Given the description of an element on the screen output the (x, y) to click on. 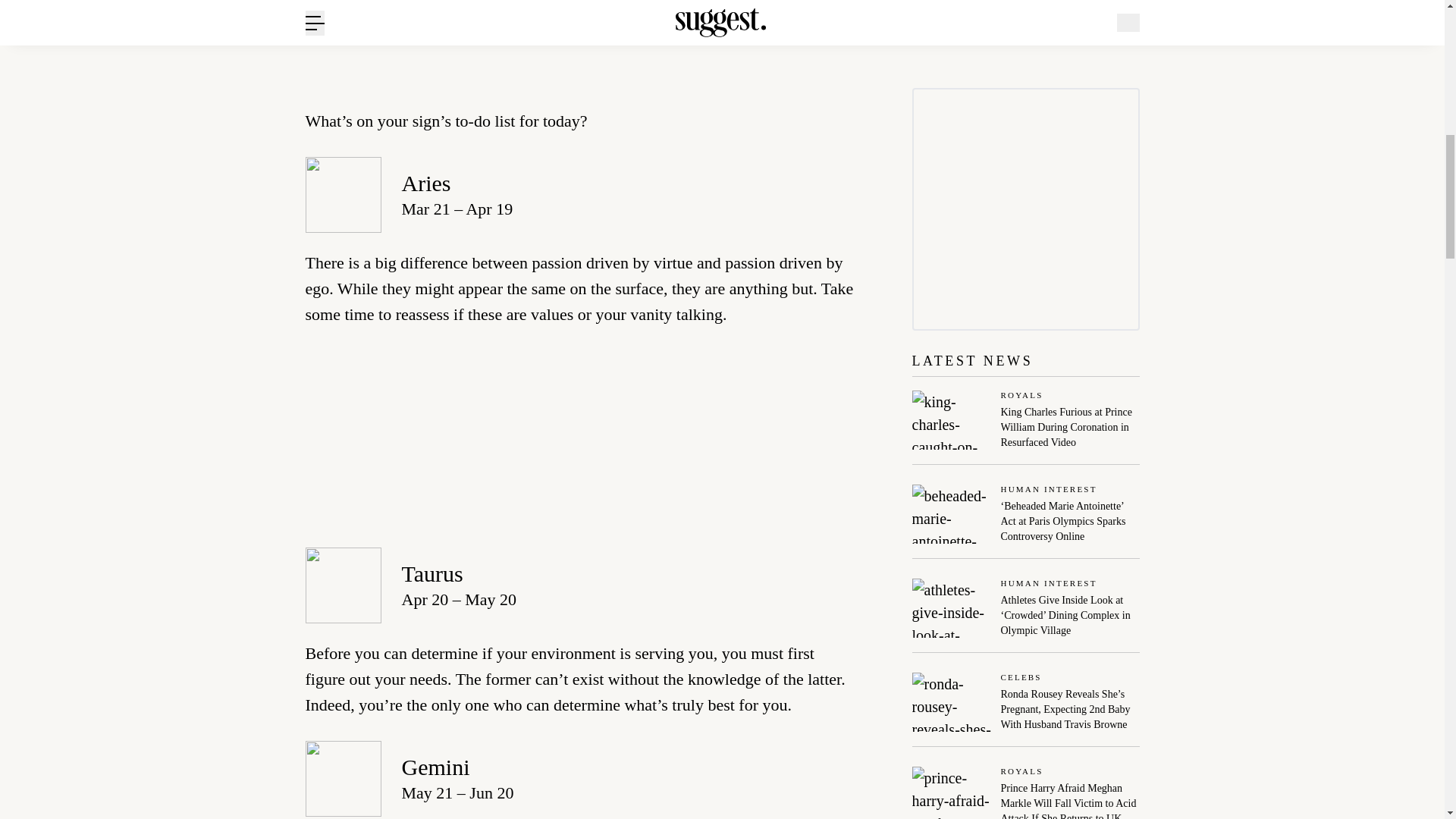
Royals (1070, 396)
Human Interest (1070, 490)
